Given the description of an element on the screen output the (x, y) to click on. 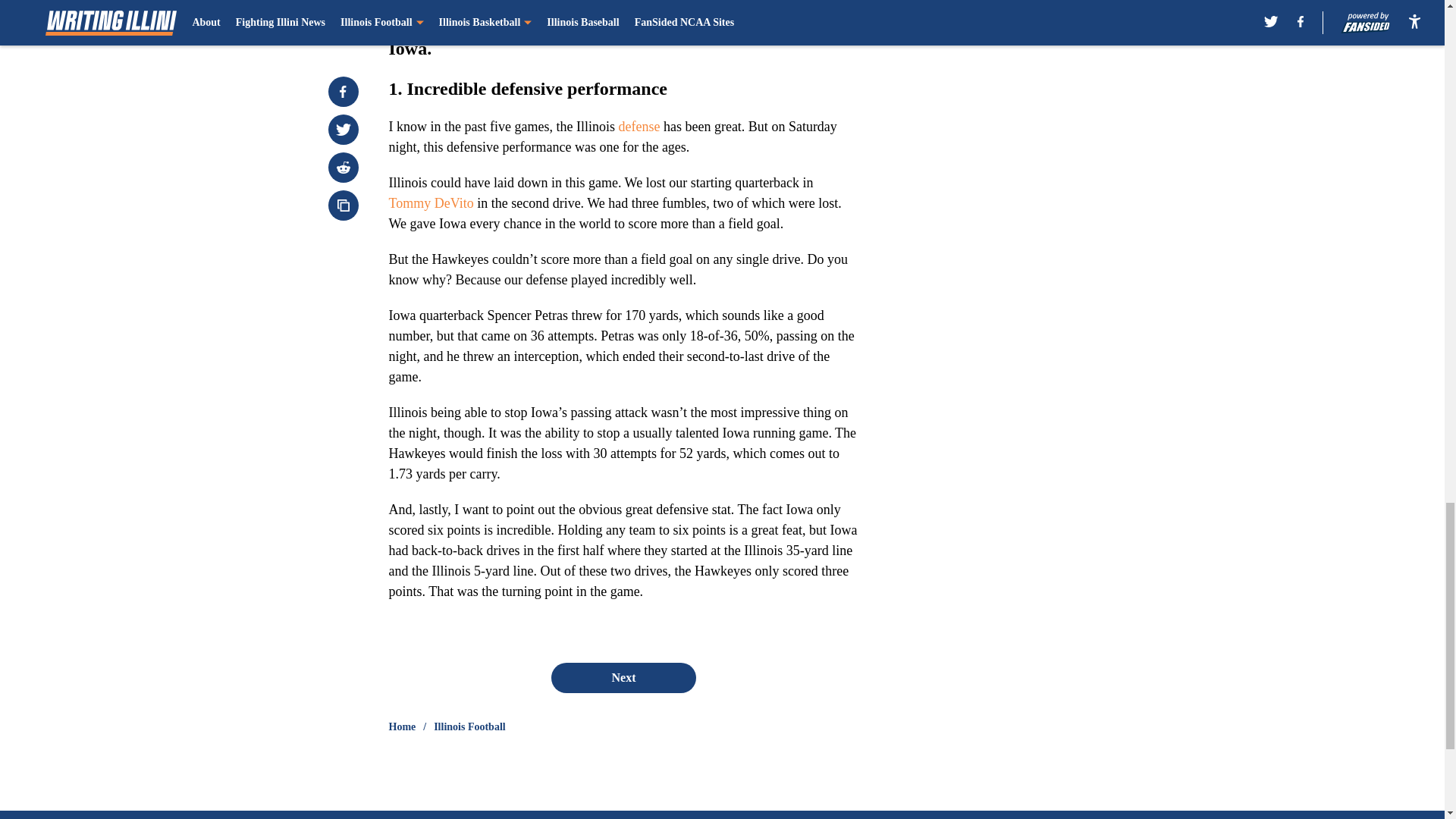
Tommy DeVito (430, 202)
Next (622, 677)
Home (401, 726)
Illinois Football (469, 726)
defense (638, 126)
